Given the description of an element on the screen output the (x, y) to click on. 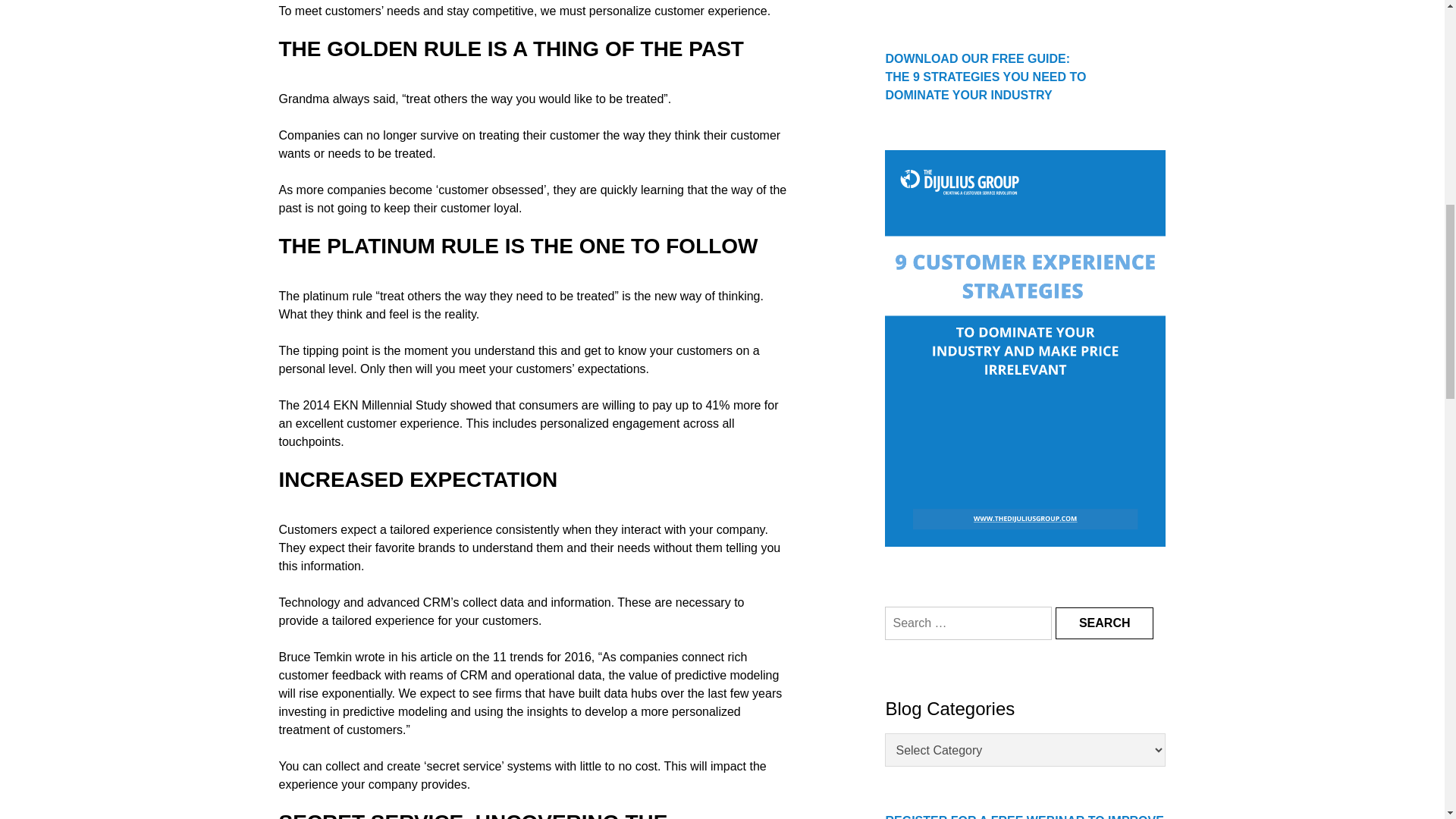
Search (1104, 623)
Search (1104, 623)
